Given the description of an element on the screen output the (x, y) to click on. 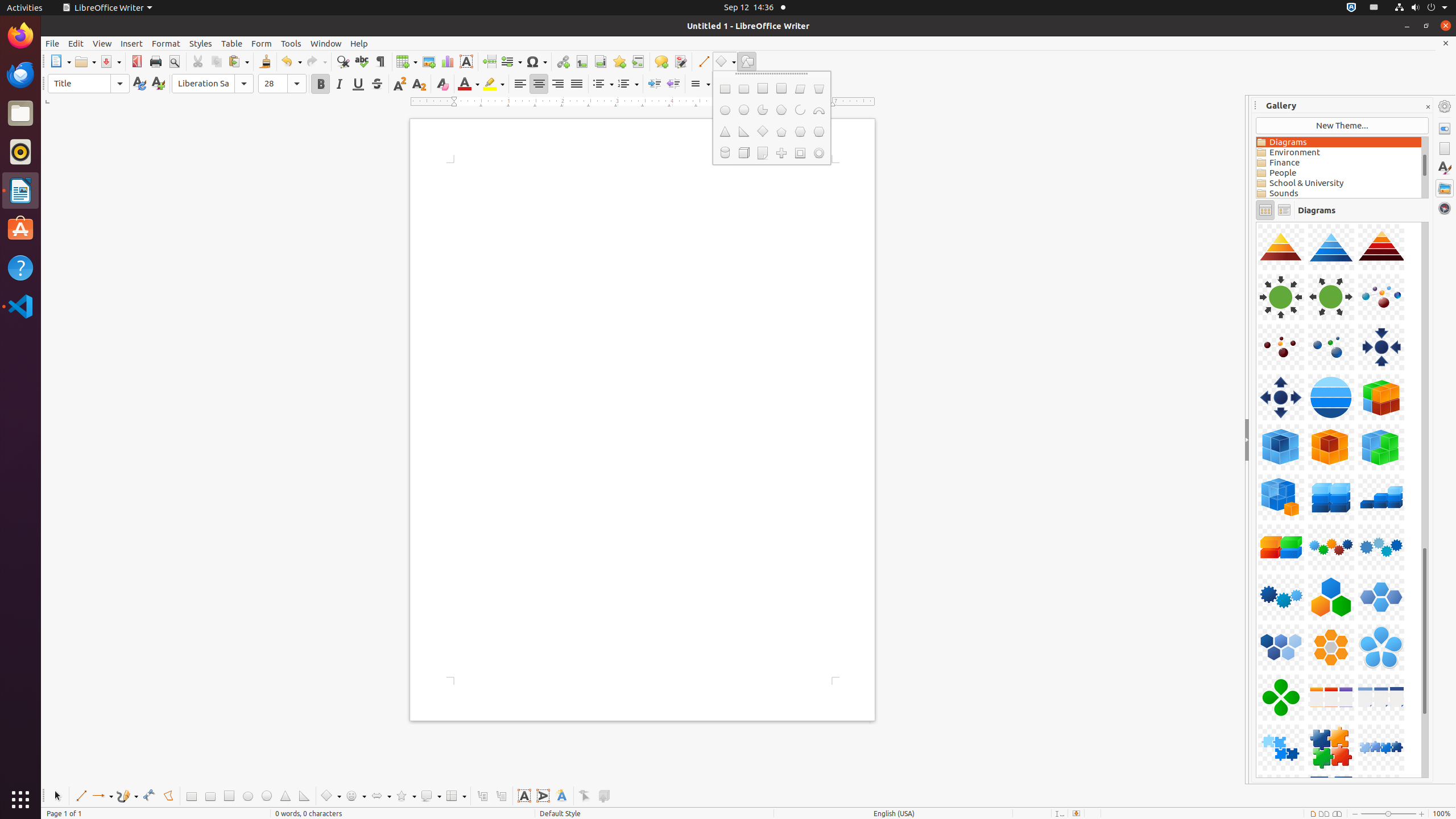
Component-Person03-Green Element type: list-item (1256, 222)
Component-Cuboid02-Blue Element type: list-item (1256, 222)
Endnote Element type: push-button (599, 61)
Folded Corner Element type: toggle-button (762, 153)
Chart Element type: push-button (446, 61)
